Given the description of an element on the screen output the (x, y) to click on. 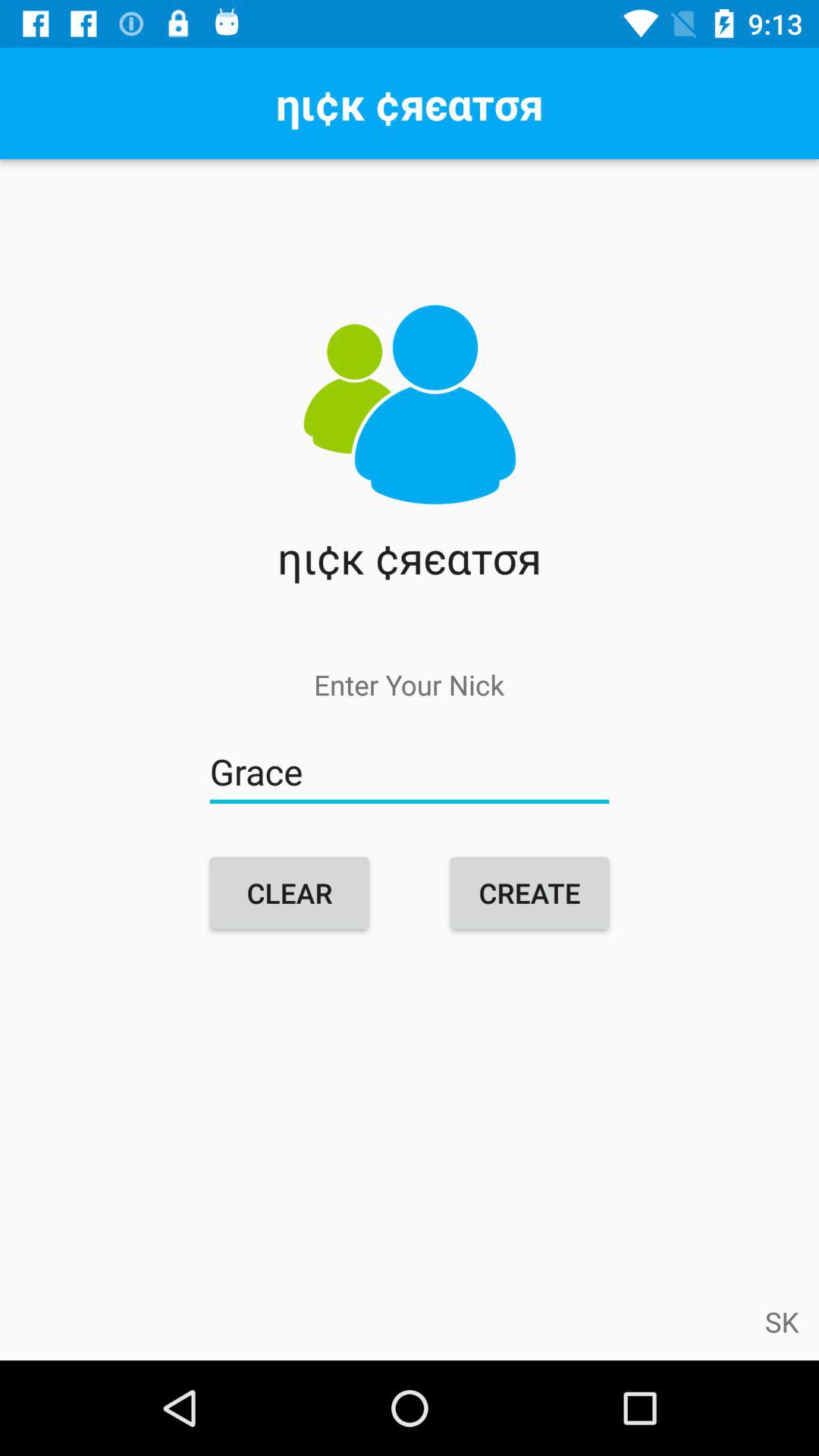
open item below grace icon (289, 892)
